Given the description of an element on the screen output the (x, y) to click on. 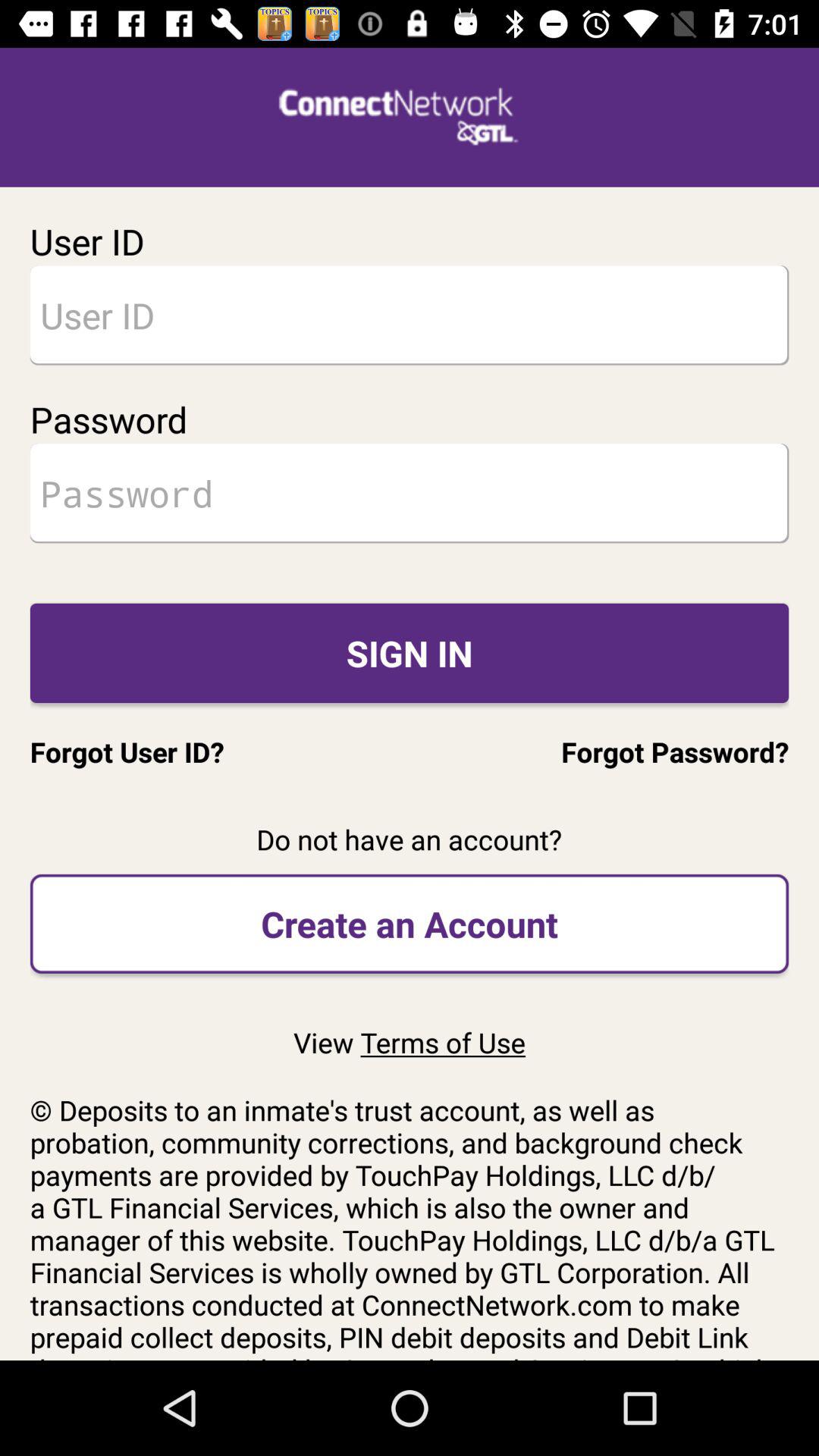
enter password (409, 493)
